Given the description of an element on the screen output the (x, y) to click on. 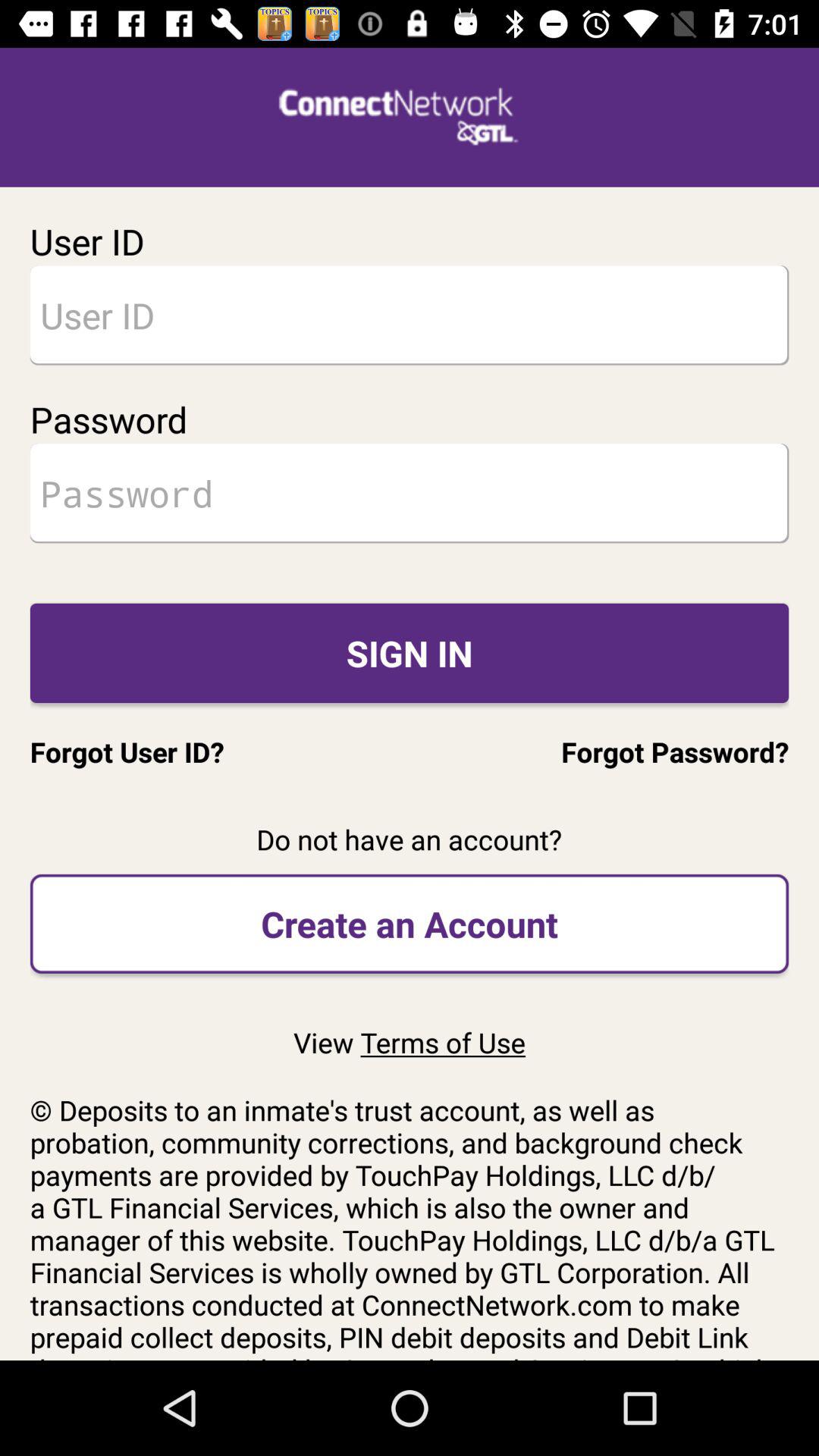
enter password (409, 493)
